Given the description of an element on the screen output the (x, y) to click on. 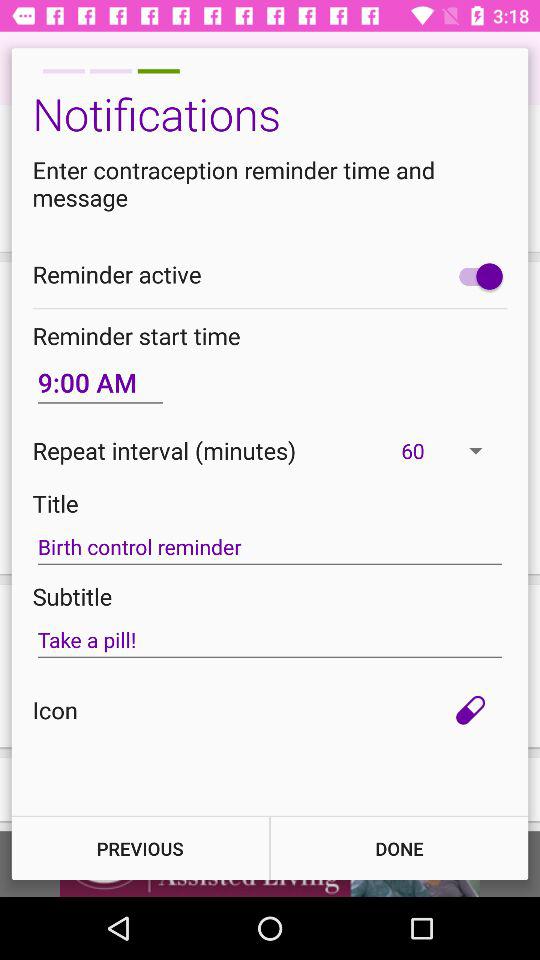
turn on item to the right of the icon icon (470, 709)
